Given the description of an element on the screen output the (x, y) to click on. 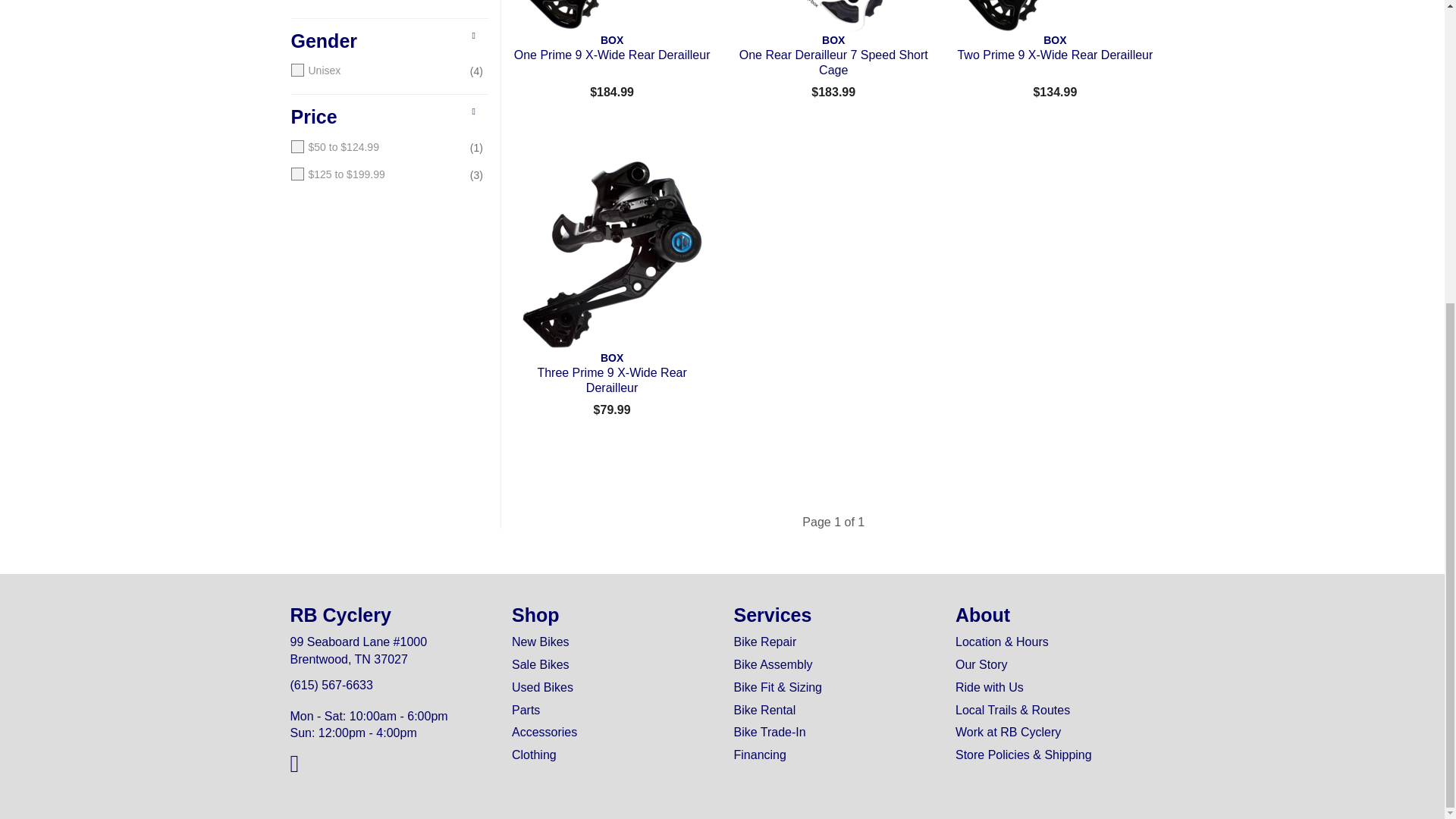
BOX One Rear Derailleur 7 Speed Short Cage (833, 54)
BOX One Prime 9 X-Wide Rear Derailleur (611, 16)
BOX One Prime 9 X-Wide Rear Derailleur (611, 54)
BOX Two Prime 9 X-Wide Rear Derailleur (1054, 16)
BOX One Rear Derailleur 7 Speed Short Cage (833, 16)
